Given the description of an element on the screen output the (x, y) to click on. 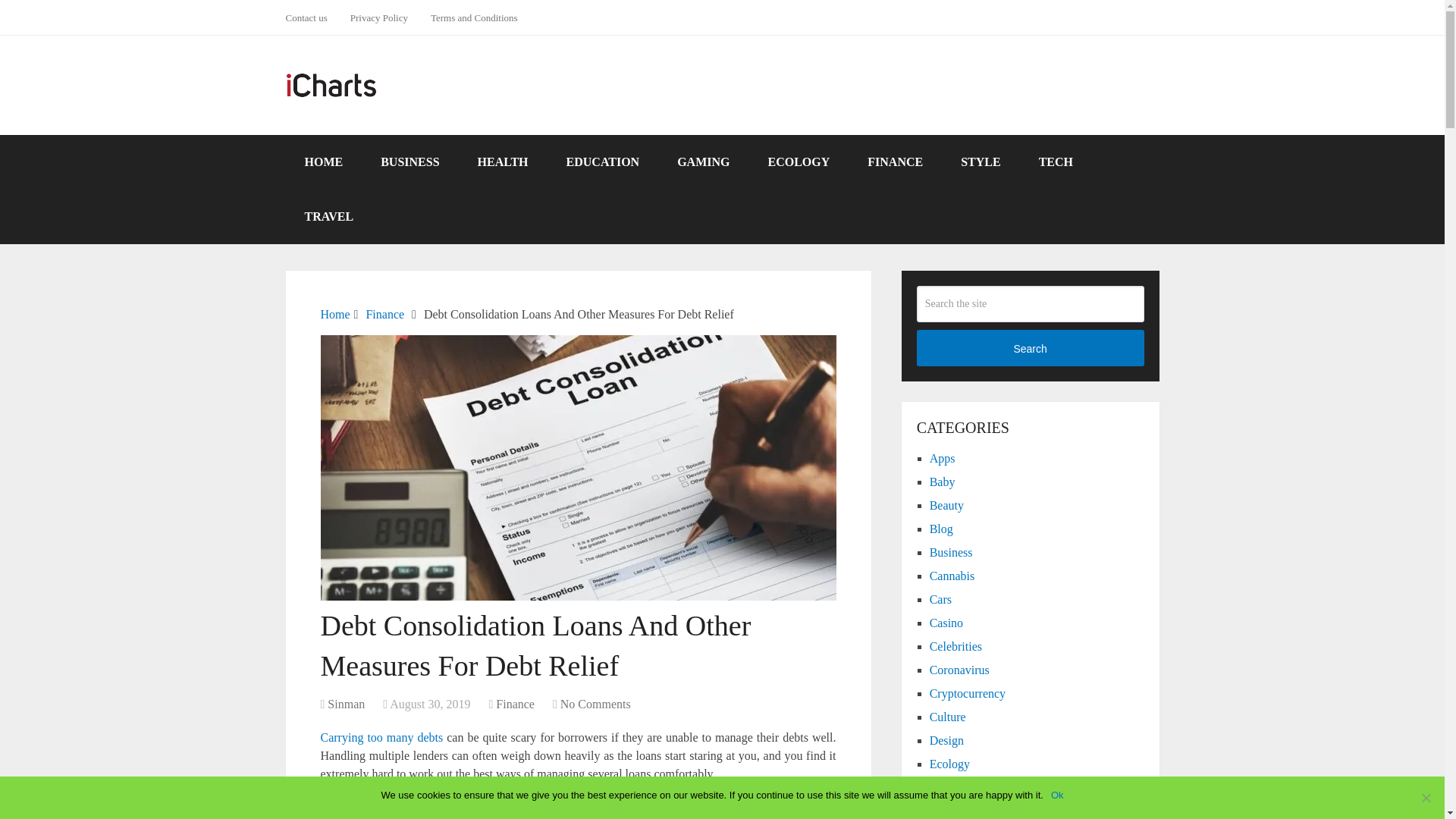
GAMING (703, 162)
Carrying too many debts (381, 737)
HOME (323, 162)
HEALTH (502, 162)
Posts by Sinman (346, 703)
Finance (384, 314)
TRAVEL (328, 216)
Contact us (311, 17)
View all posts in Finance (515, 703)
BUSINESS (409, 162)
Privacy Policy (379, 17)
ECOLOGY (798, 162)
TECH (1056, 162)
No Comments (595, 703)
FINANCE (895, 162)
